Given the description of an element on the screen output the (x, y) to click on. 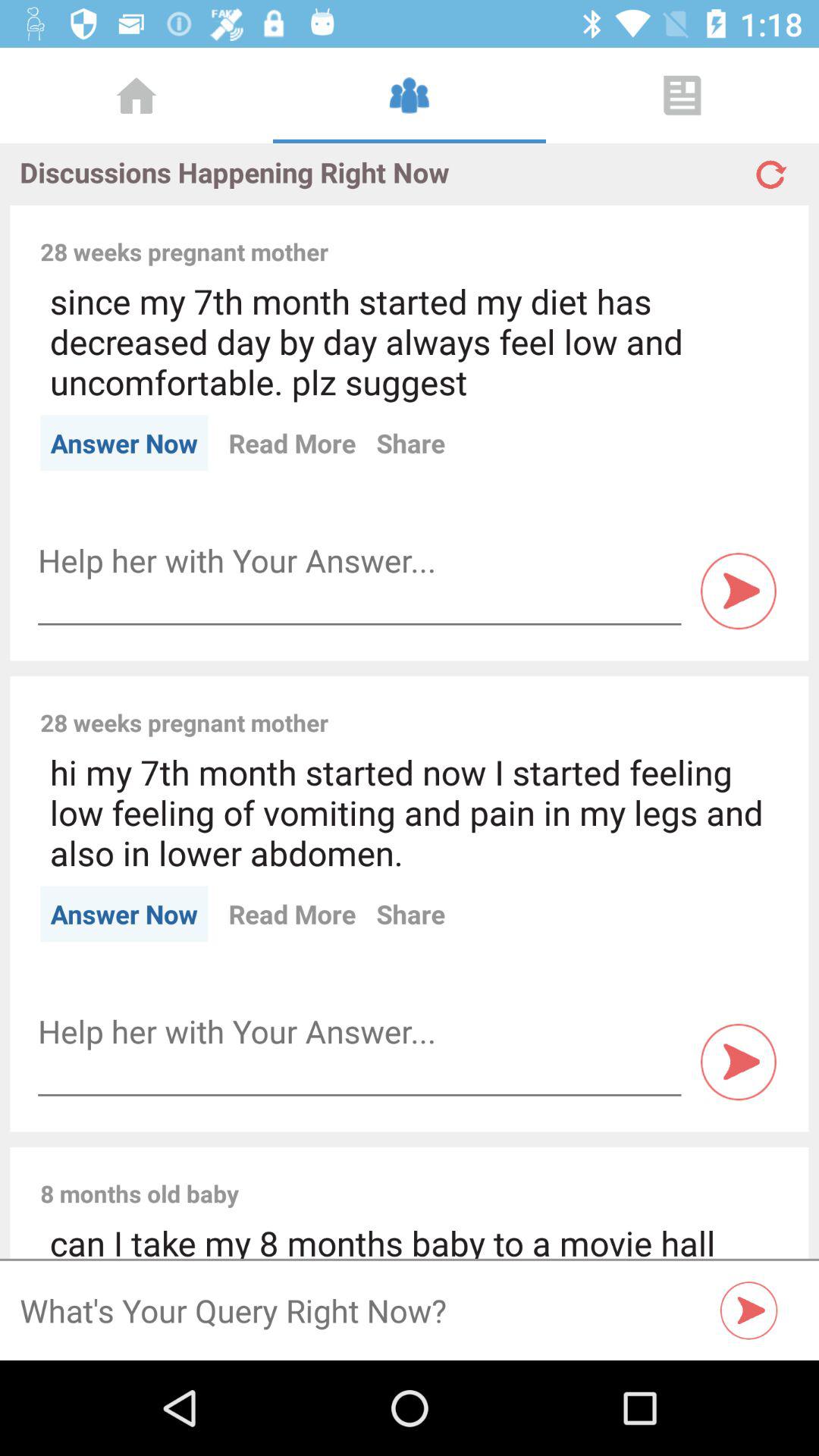
swipe to can i take (409, 1238)
